Given the description of an element on the screen output the (x, y) to click on. 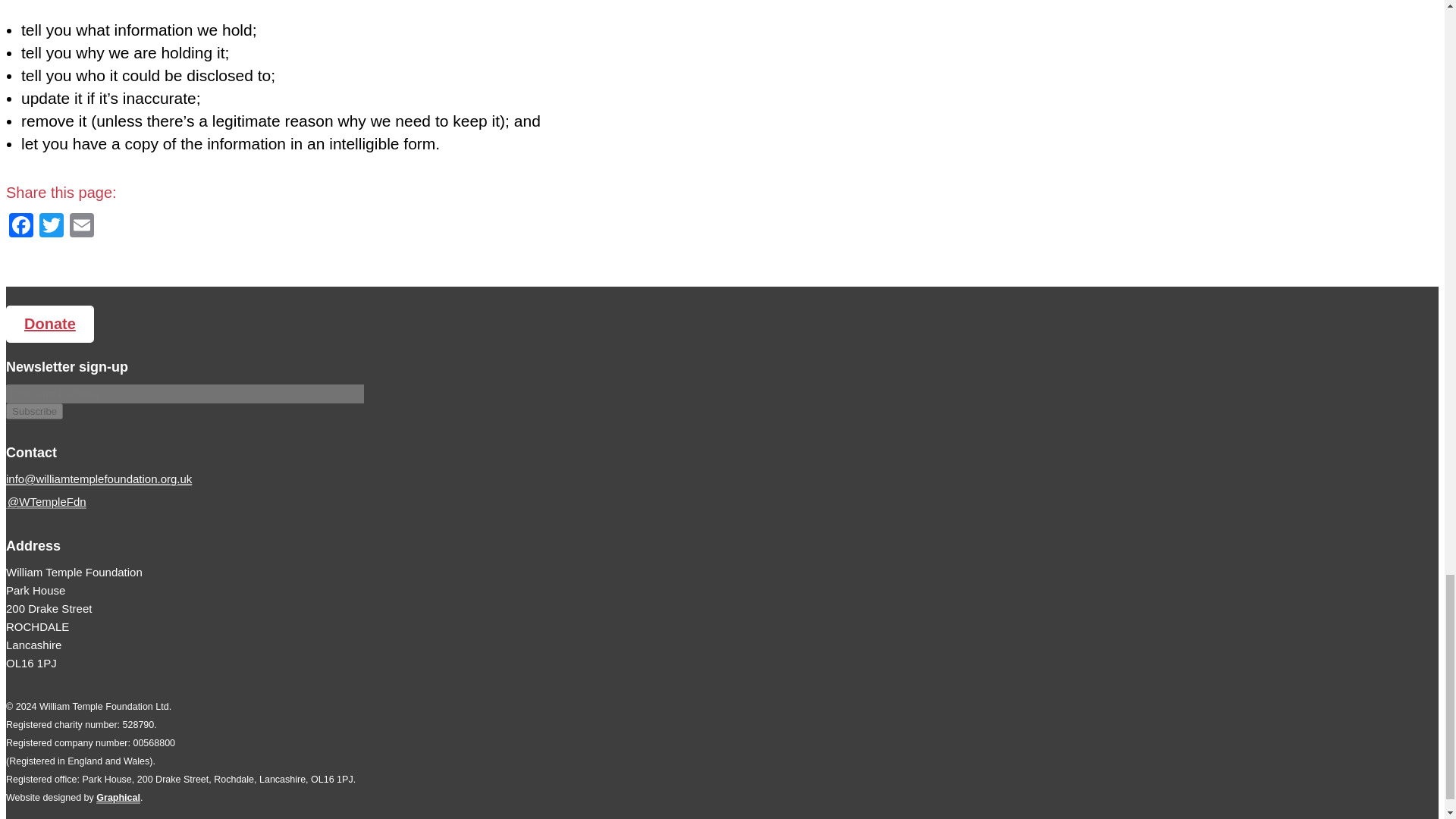
Graphical Agency (117, 797)
Twitter (51, 226)
Email (81, 226)
Facebook (20, 226)
Twitter (51, 226)
Facebook (20, 226)
Subscribe (33, 411)
